Given the description of an element on the screen output the (x, y) to click on. 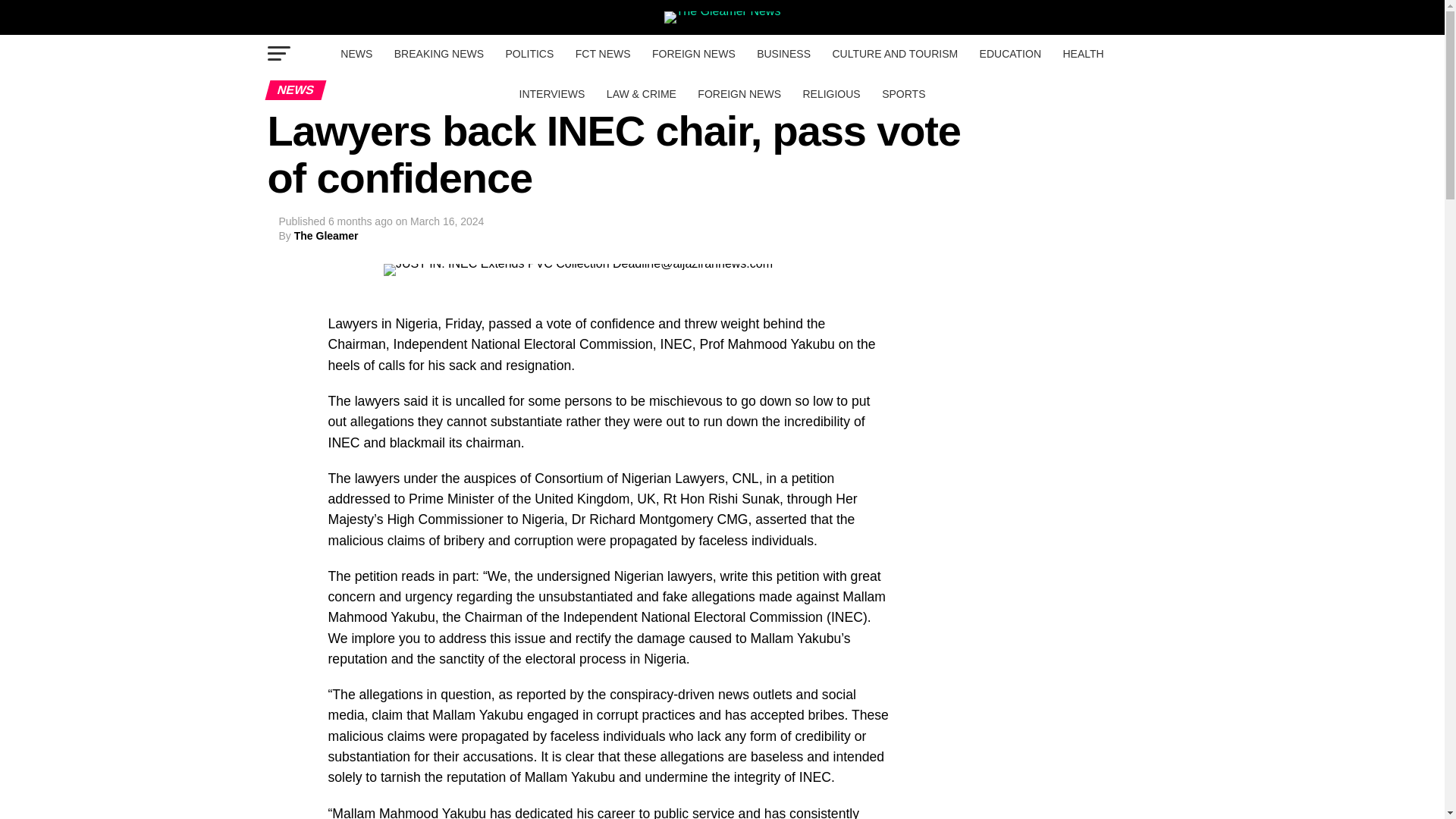
BUSINESS (783, 53)
INTERVIEWS (552, 94)
RELIGIOUS (831, 94)
POLITICS (529, 53)
EDUCATION (1010, 53)
FCT NEWS (603, 53)
FOREIGN NEWS (693, 53)
NEWS (356, 53)
Posts by The Gleamer (326, 235)
CULTURE AND TOURISM (894, 53)
